Given the description of an element on the screen output the (x, y) to click on. 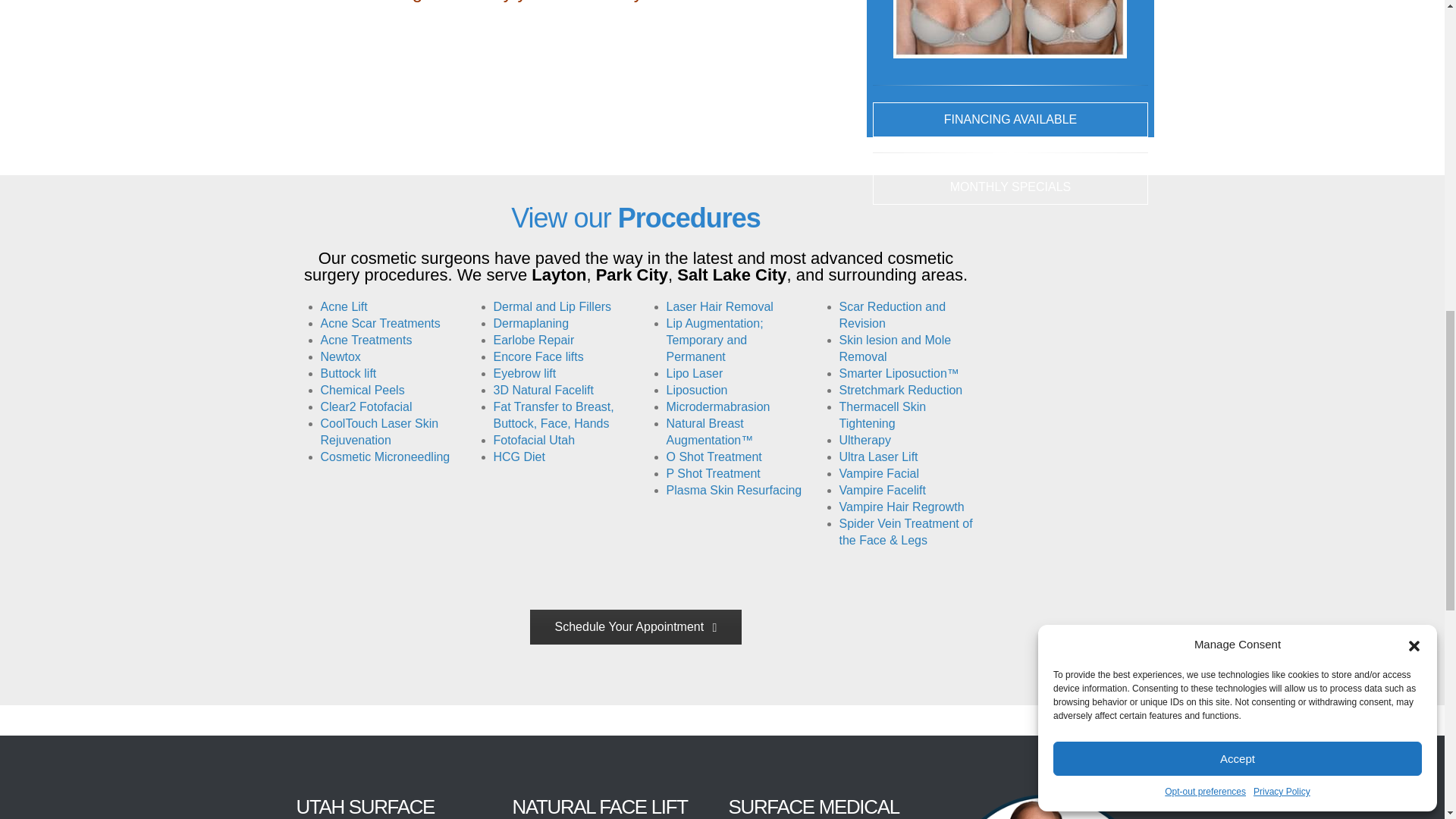
Frequently Asked Questions (1010, 119)
Monthly Specials (1010, 186)
Schedule Your Appointment (635, 626)
before-and-after-photos (1009, 29)
